Given the description of an element on the screen output the (x, y) to click on. 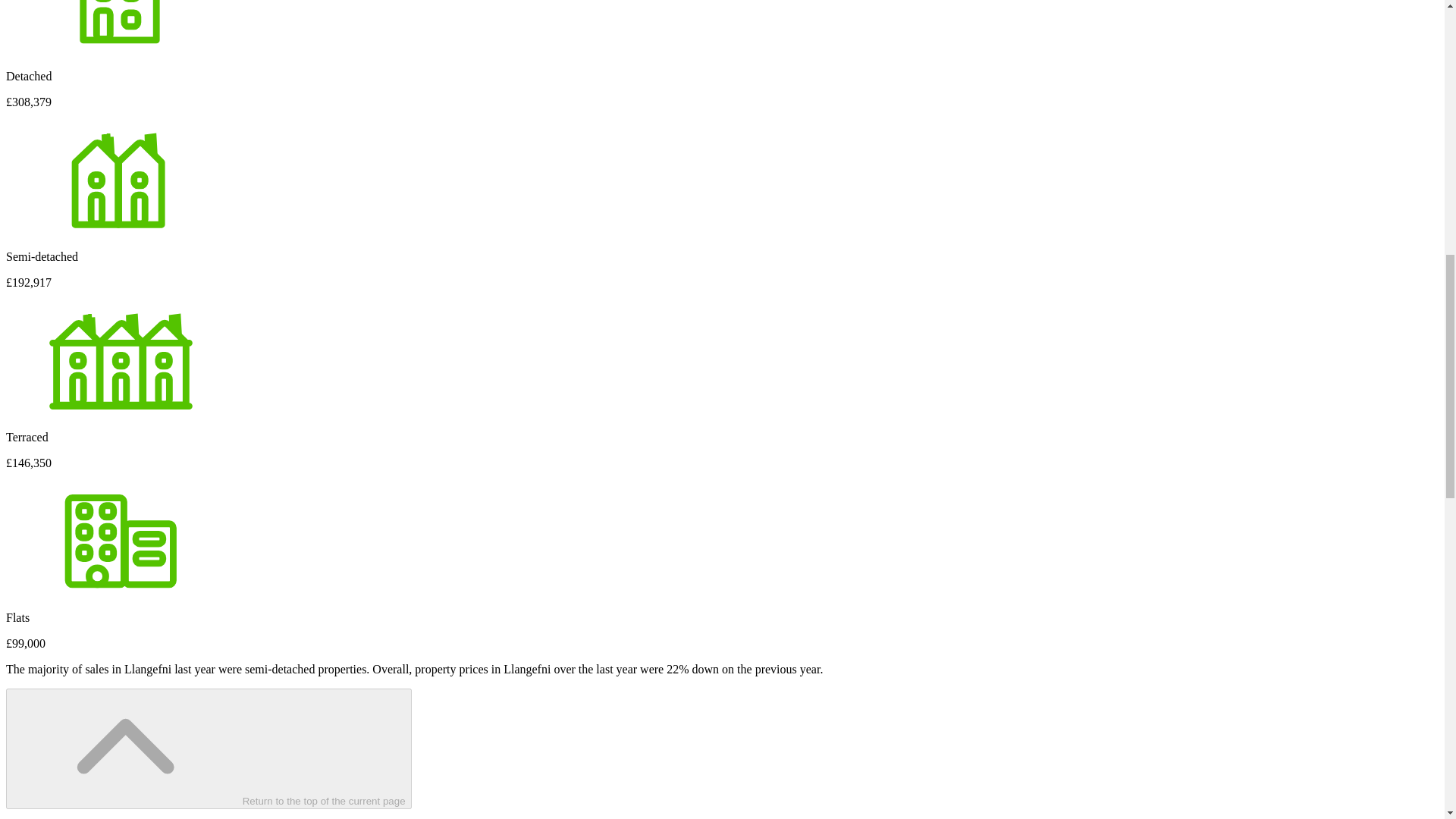
Return to the top of the current page (208, 748)
Return to the top of the current page (208, 748)
